Given the description of an element on the screen output the (x, y) to click on. 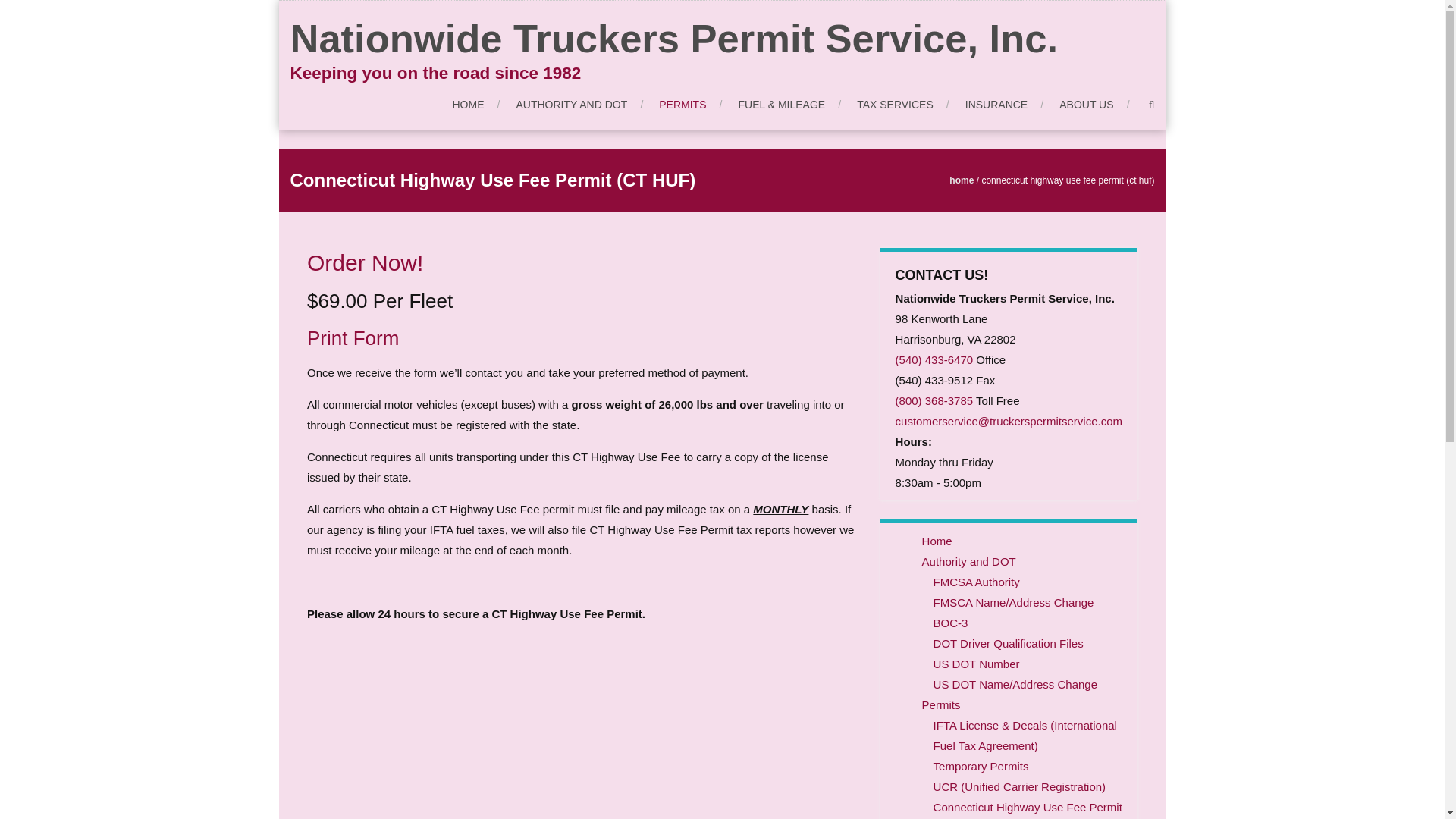
AUTHORITY AND DOT (579, 104)
PERMITS (690, 104)
HOME (475, 104)
TAX SERVICES (903, 104)
INSURANCE (1004, 104)
ABOUT US (1094, 104)
